Given the description of an element on the screen output the (x, y) to click on. 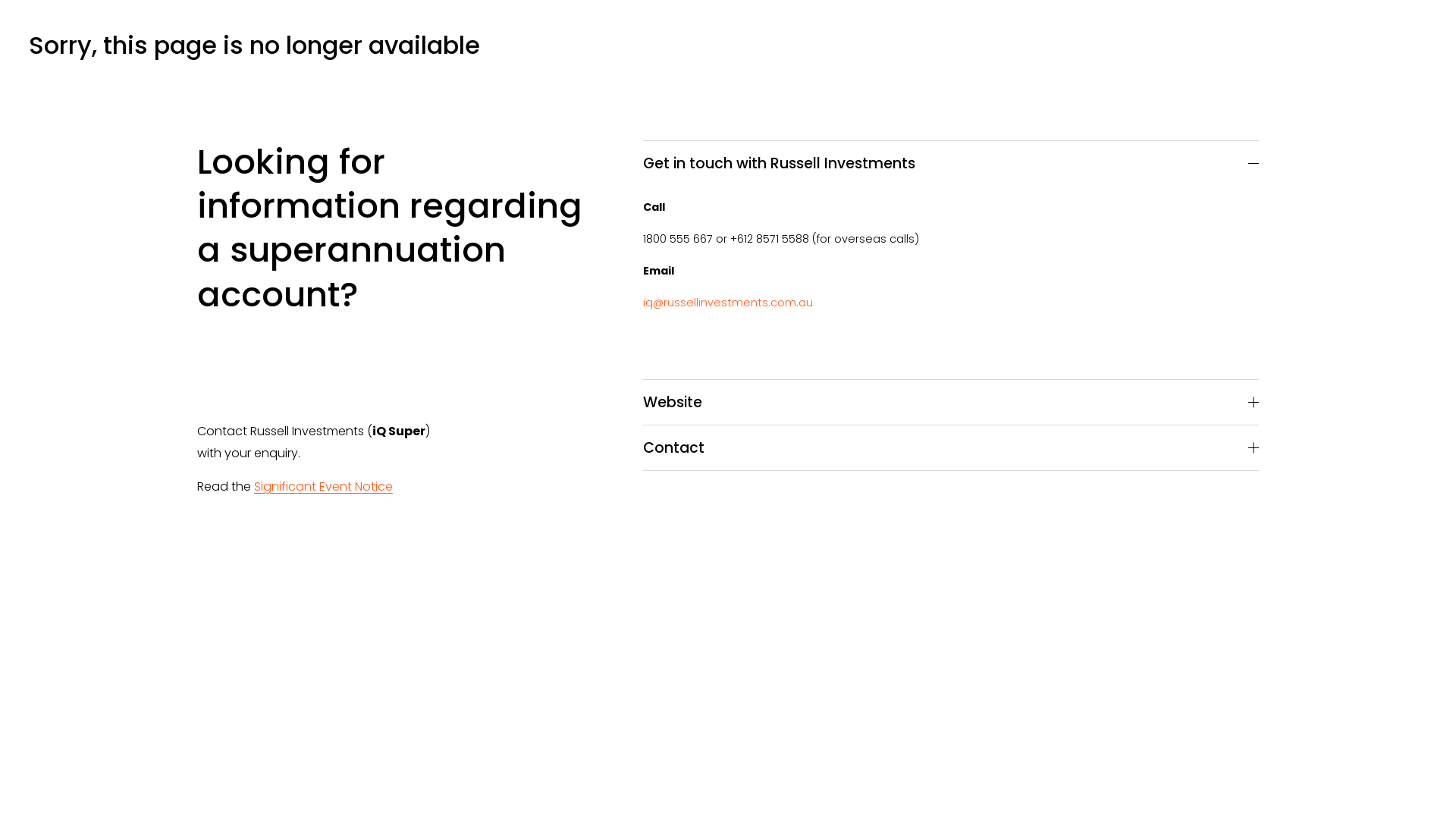
Website Element type: text (950, 401)
iq@russellinvestments.com.au Element type: text (727, 302)
Significant Event Notice Element type: text (323, 486)
Get in touch with Russell Investments Element type: text (950, 163)
Contact Element type: text (950, 447)
Sorry, this page is no longer available Element type: text (254, 45)
